Given the description of an element on the screen output the (x, y) to click on. 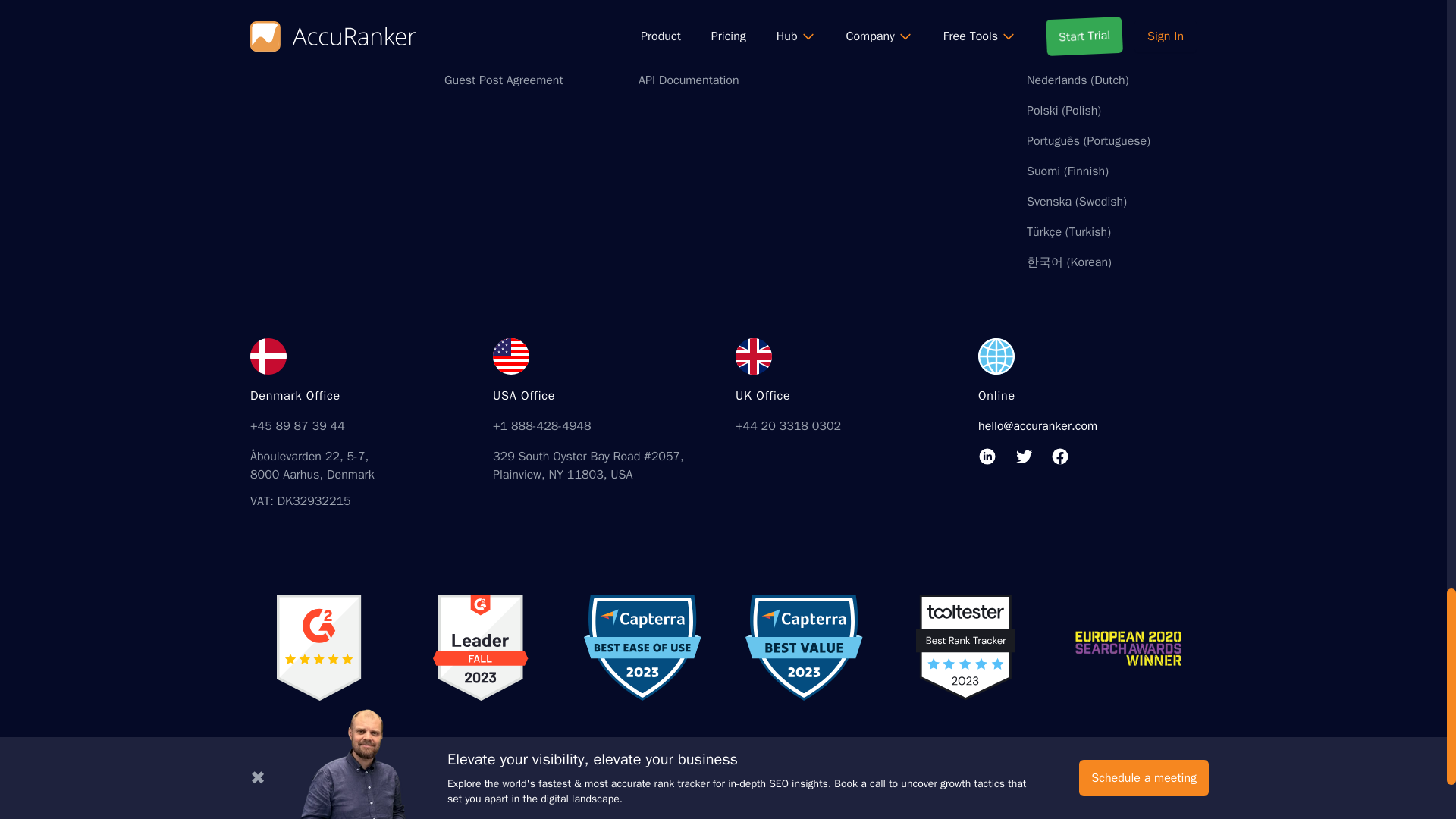
Learn SEO (666, 19)
Marketing Dictionary (692, 49)
Release Log (476, 49)
API Documentation (689, 79)
Guest Post Agreement (503, 79)
Press (459, 19)
